Given the description of an element on the screen output the (x, y) to click on. 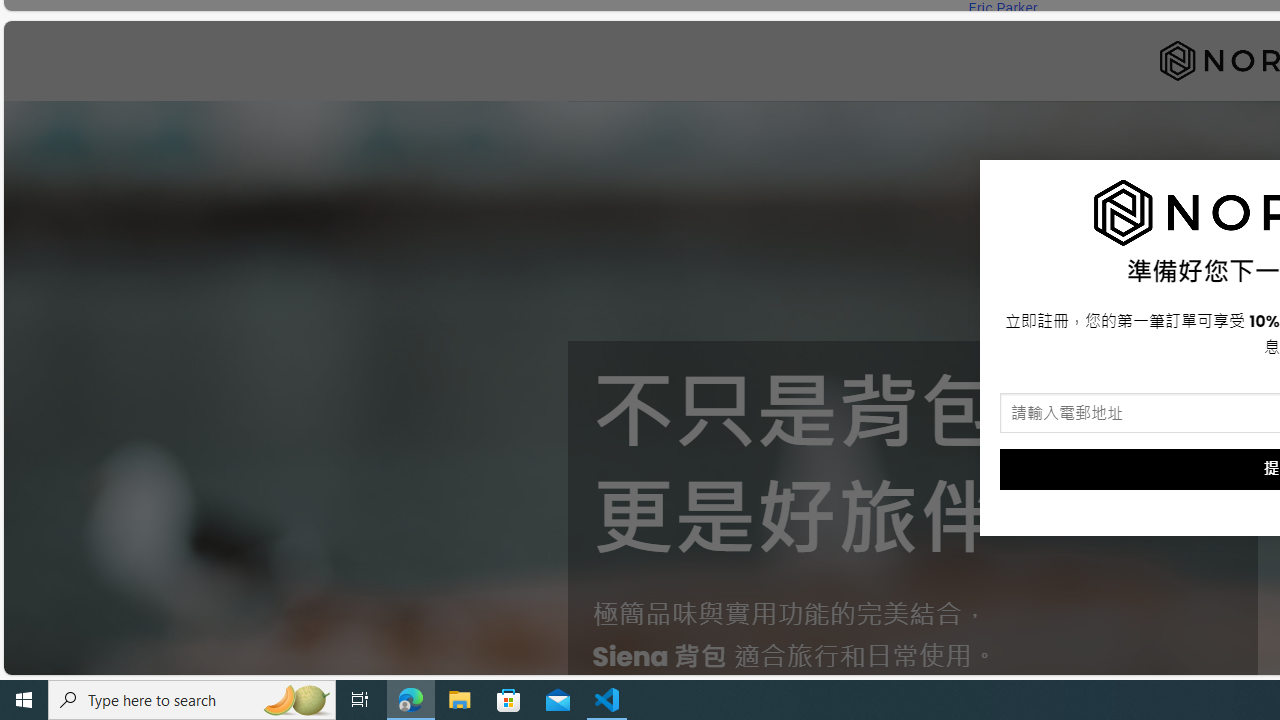
Eric Parker (1002, 8)
